Given the description of an element on the screen output the (x, y) to click on. 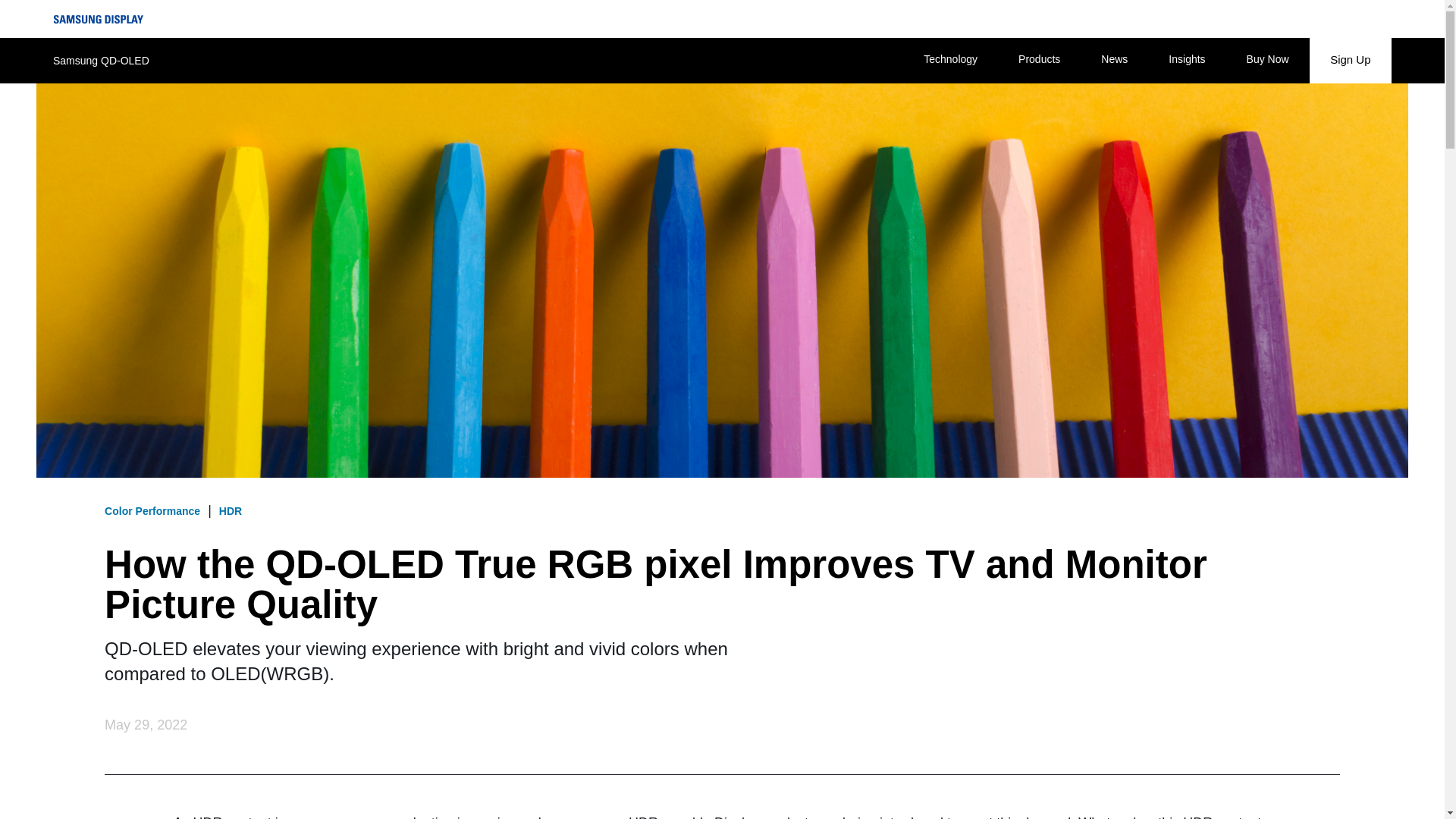
HDR (229, 511)
Samsung (117, 25)
Products (1039, 60)
Insights (1186, 60)
News (1114, 60)
Sign Up (1349, 60)
Buy Now (1267, 60)
Technology (950, 60)
Color Performance (156, 511)
